Given the description of an element on the screen output the (x, y) to click on. 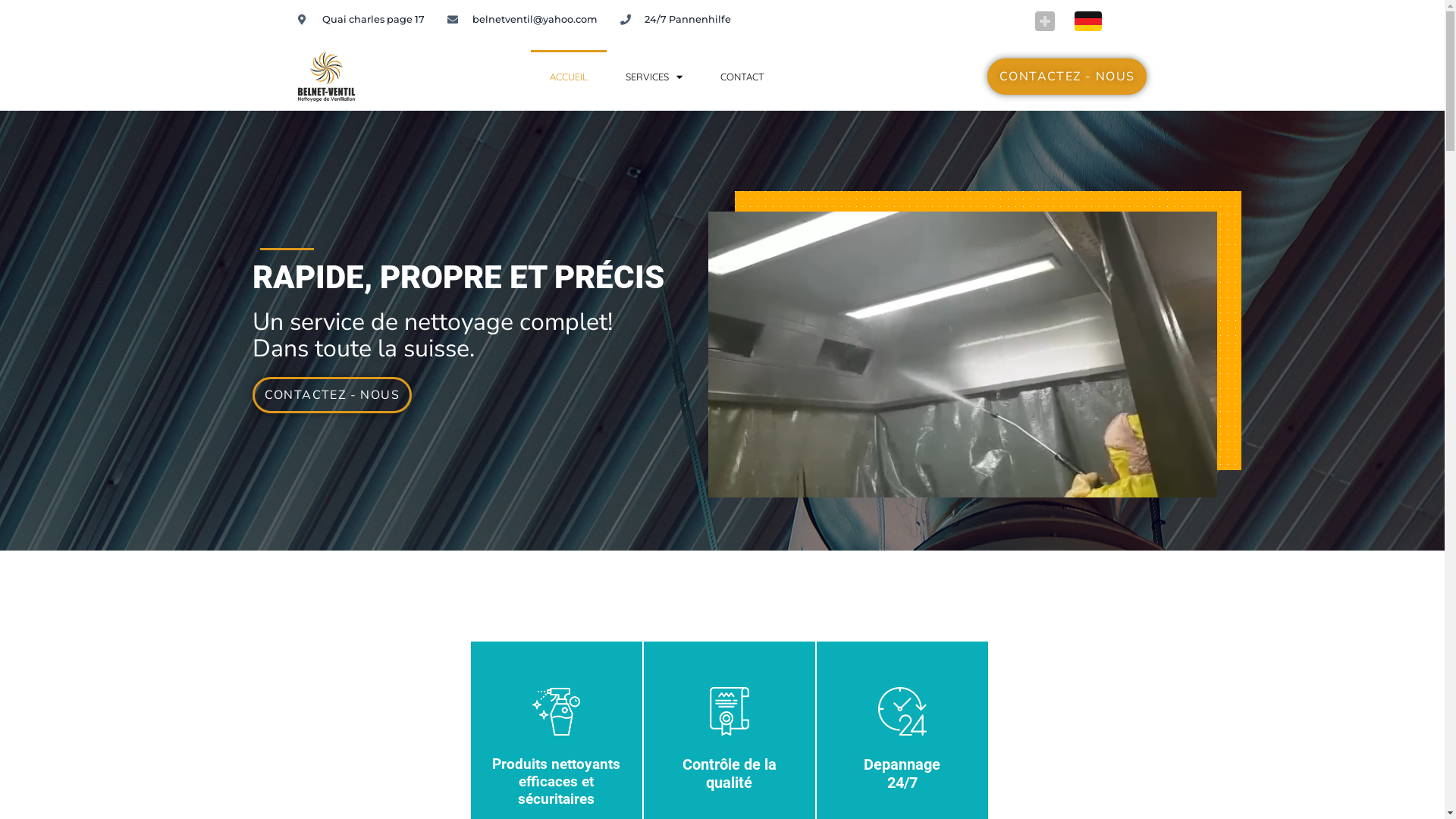
ACCUEIL Element type: text (568, 76)
SERVICES Element type: text (653, 76)
CONTACTEZ - NOUS Element type: text (1066, 76)
CONTACT Element type: text (742, 76)
CONTACTEZ - NOUS Element type: text (331, 394)
